Given the description of an element on the screen output the (x, y) to click on. 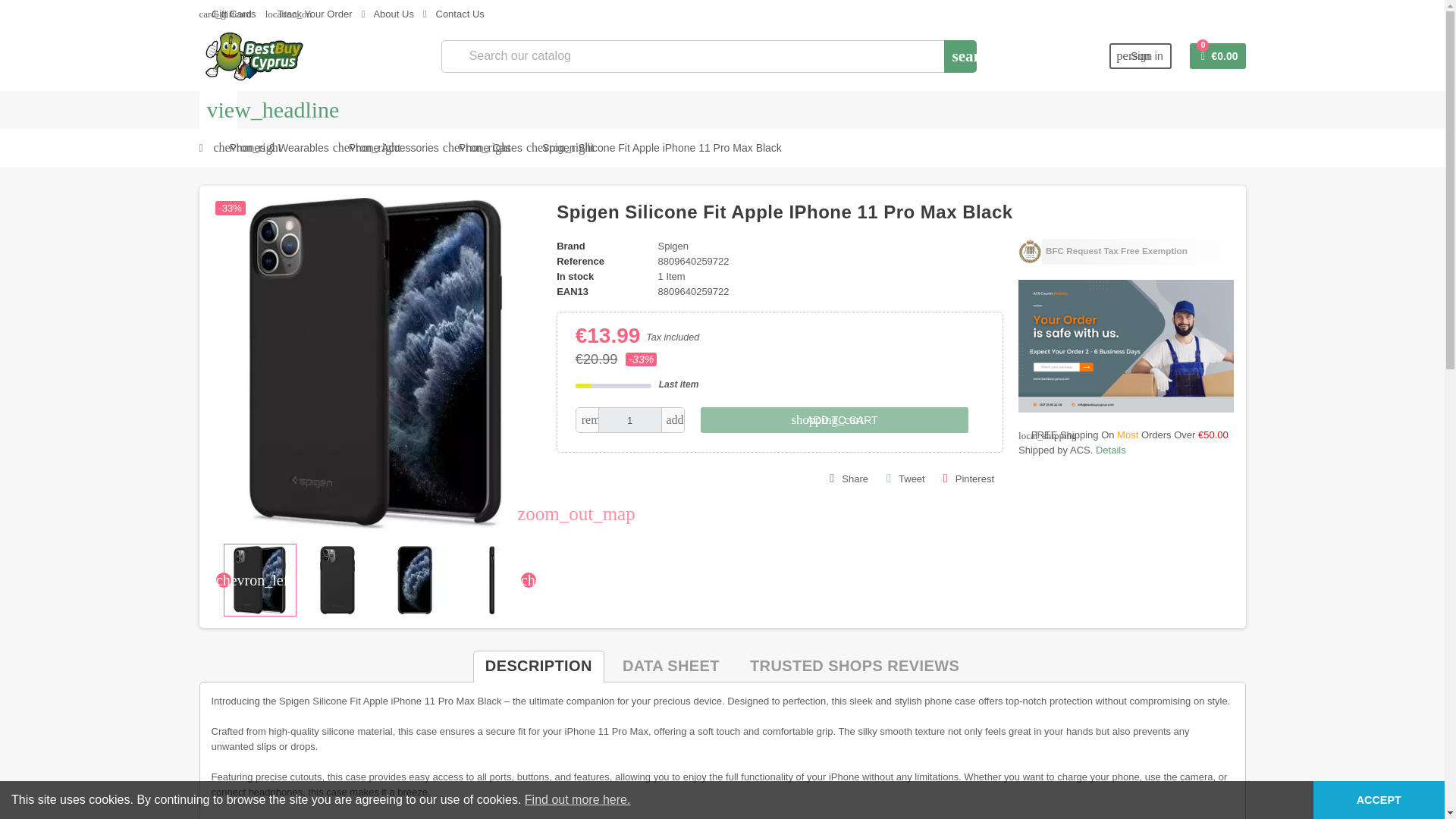
Share (849, 478)
Phone Cases (489, 147)
Phone Accessories (393, 147)
About Us (387, 13)
Log in to your customer account (1140, 56)
Pinterest (968, 478)
Tweet (905, 478)
add (672, 419)
Share (849, 478)
remove (587, 419)
BFC Request Tax Free Exemption (1125, 251)
Contact Us (453, 13)
Best Buy Cyprus (253, 55)
1 (630, 419)
Tweet (905, 478)
